Given the description of an element on the screen output the (x, y) to click on. 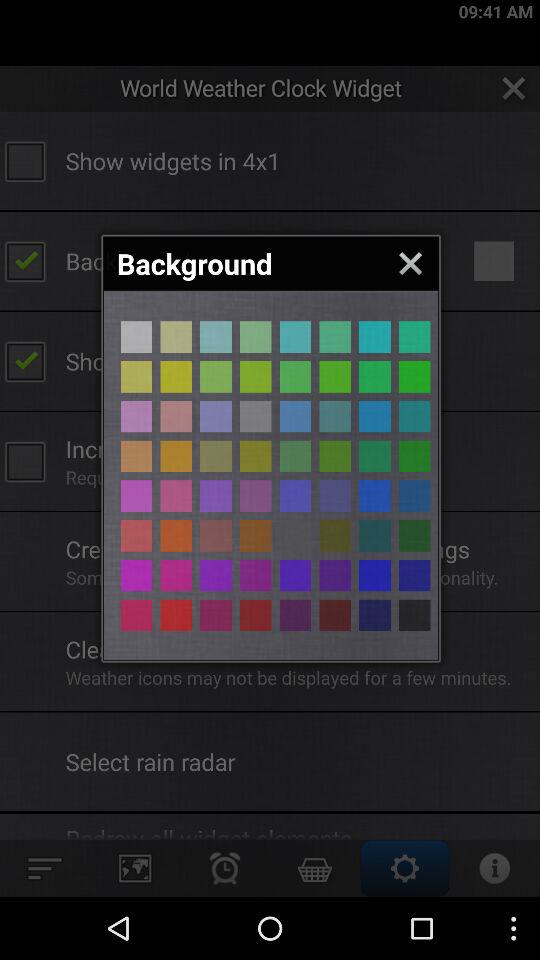
go to colour background option (215, 456)
